Given the description of an element on the screen output the (x, y) to click on. 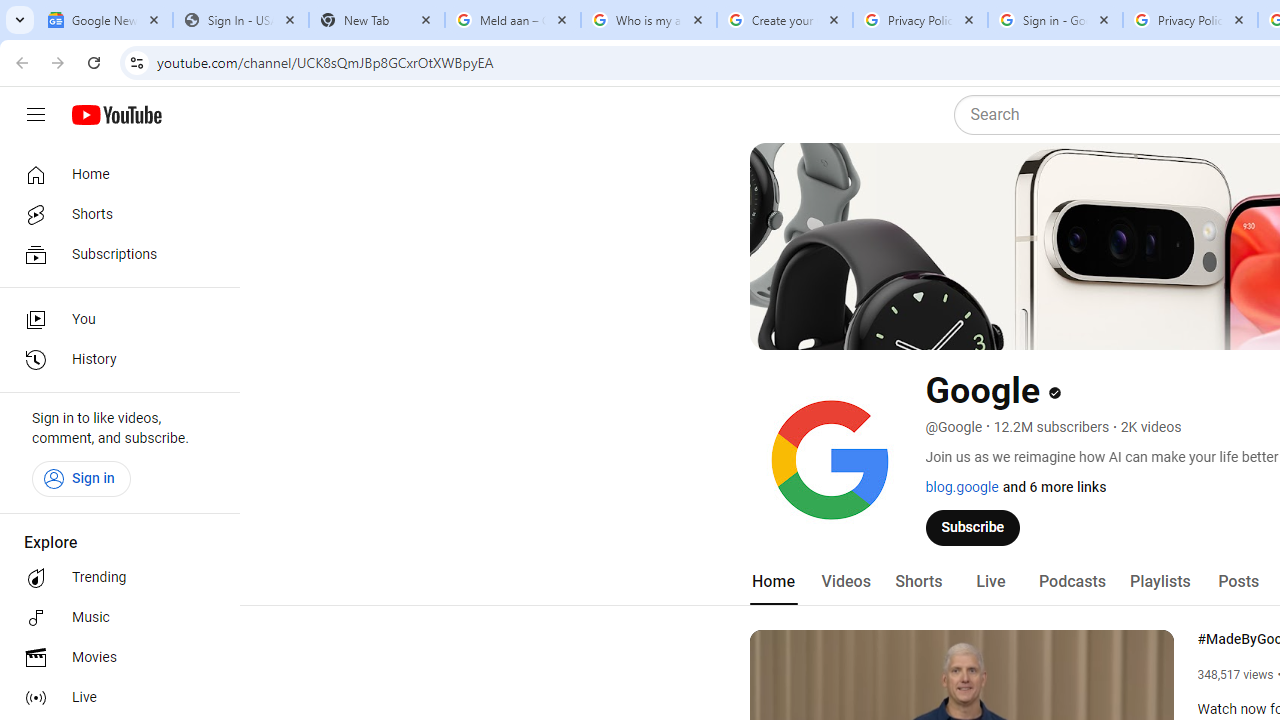
Live (113, 697)
Shorts (918, 581)
Shorts (113, 214)
Create your Google Account (784, 20)
Guide (35, 115)
Subscribe (973, 527)
Google News (104, 20)
Trending (113, 578)
